Given the description of an element on the screen output the (x, y) to click on. 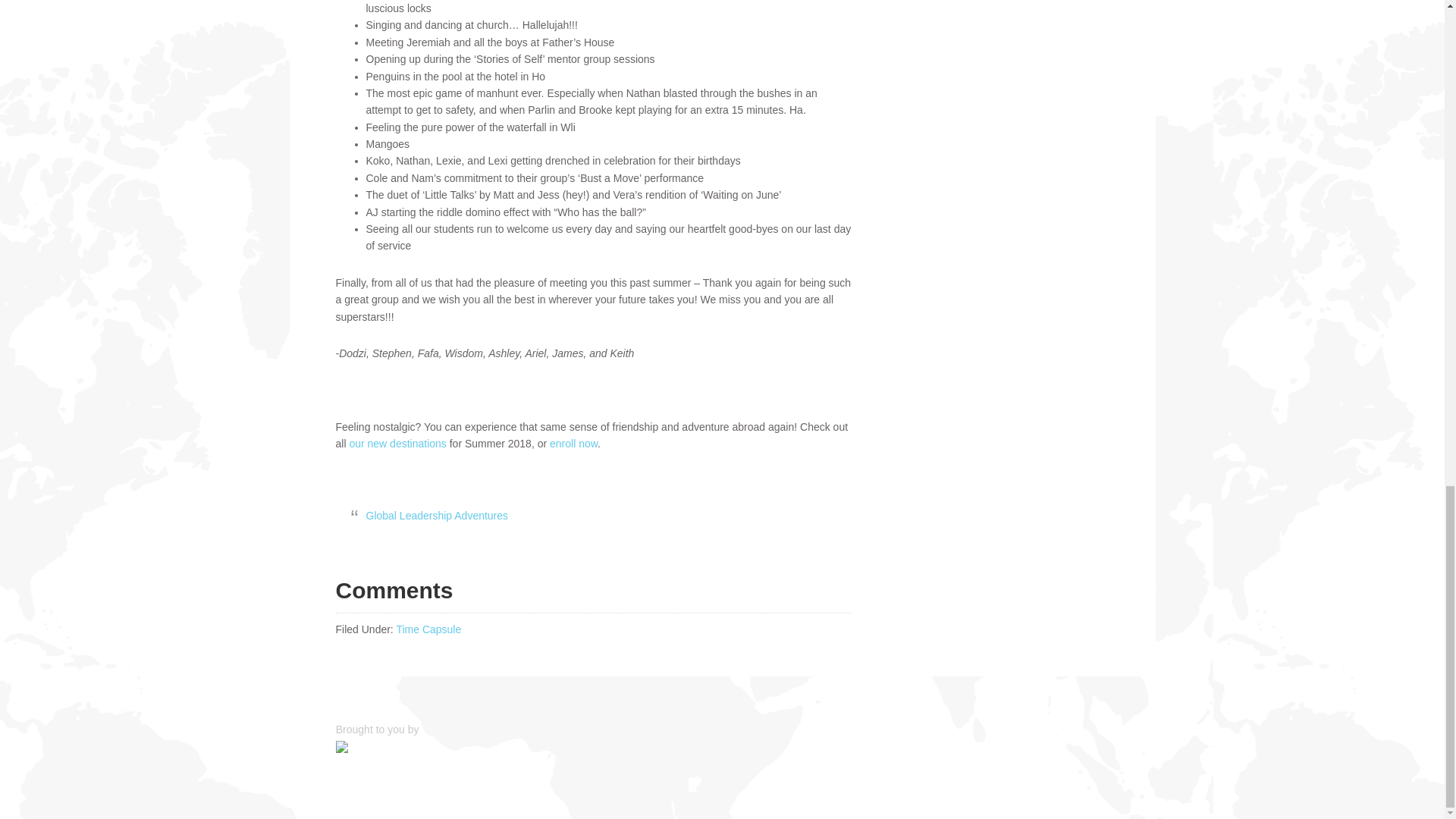
Global Leadership Adventures (436, 515)
 our new destinations (396, 443)
enroll now (573, 443)
Time Capsule (428, 629)
